Given the description of an element on the screen output the (x, y) to click on. 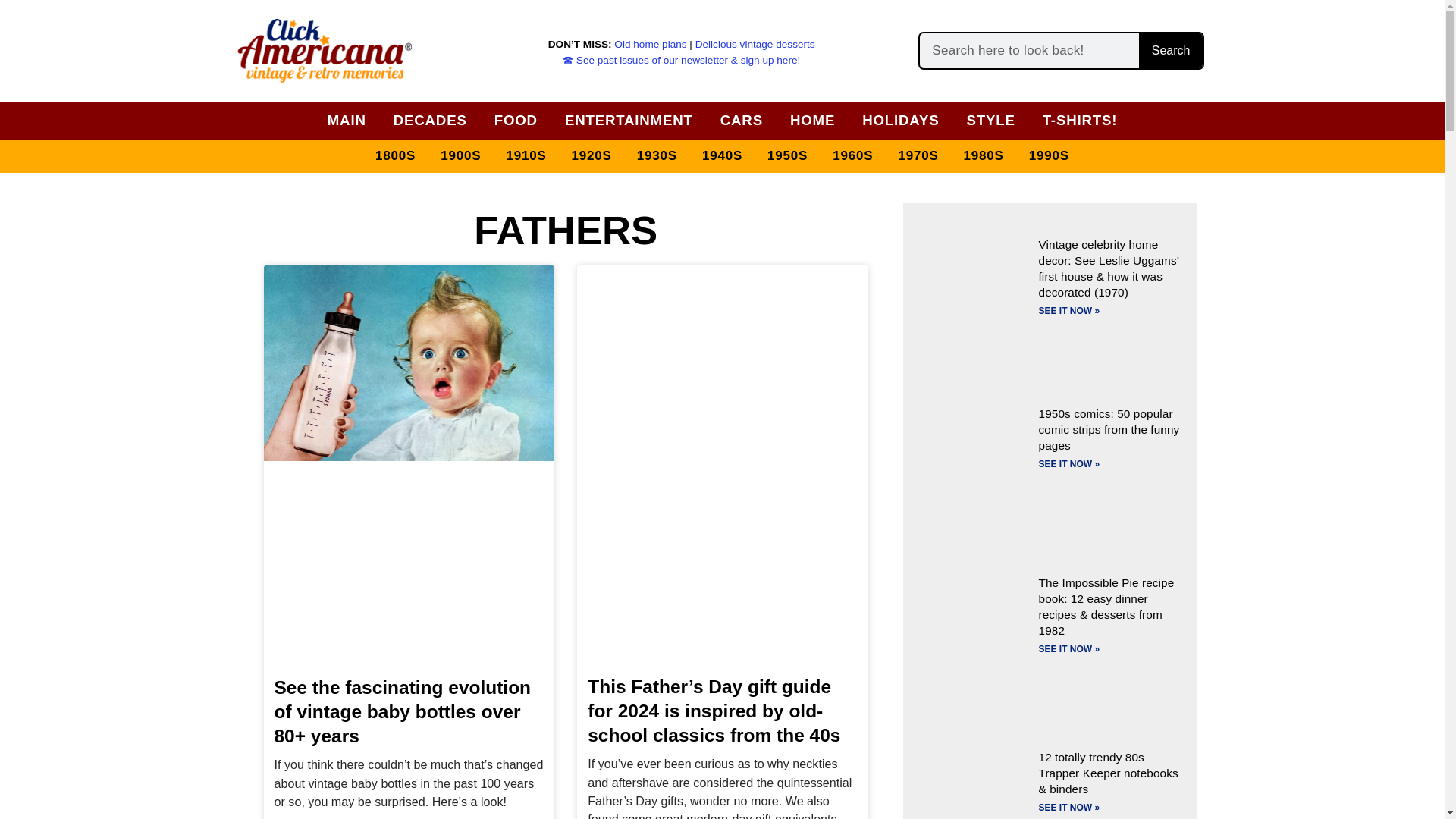
Old home plans (649, 43)
HOME (812, 120)
MAIN (346, 120)
1990S (1049, 155)
1920S (591, 155)
Delicious vintage desserts (755, 43)
T-SHIRTS! (1080, 120)
1910S (525, 155)
1940S (721, 155)
1930S (656, 155)
ENTERTAINMENT (628, 120)
1900S (459, 155)
1950S (787, 155)
1960S (853, 155)
1800S (395, 155)
